Given the description of an element on the screen output the (x, y) to click on. 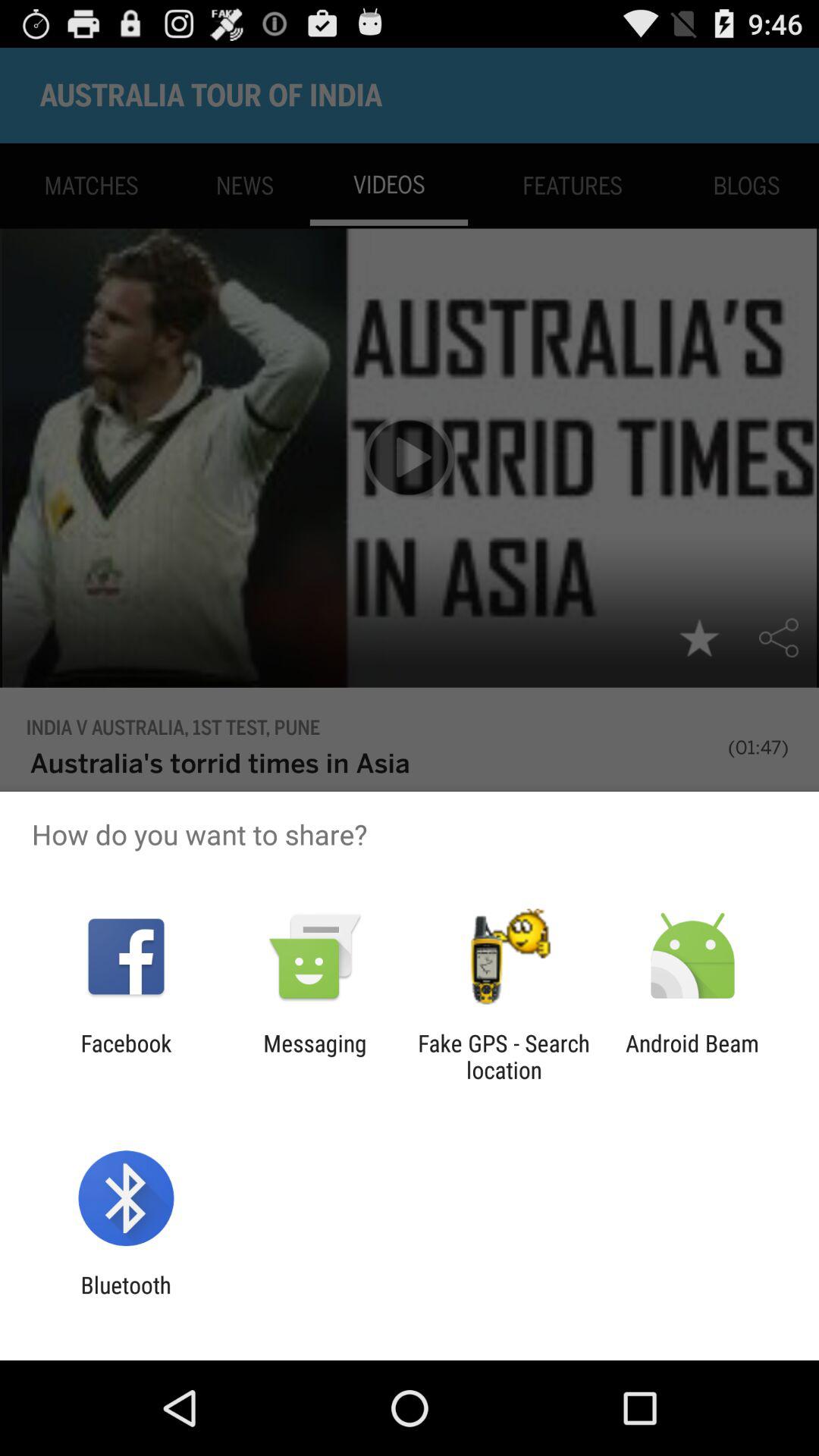
turn off the item next to messaging item (125, 1056)
